Given the description of an element on the screen output the (x, y) to click on. 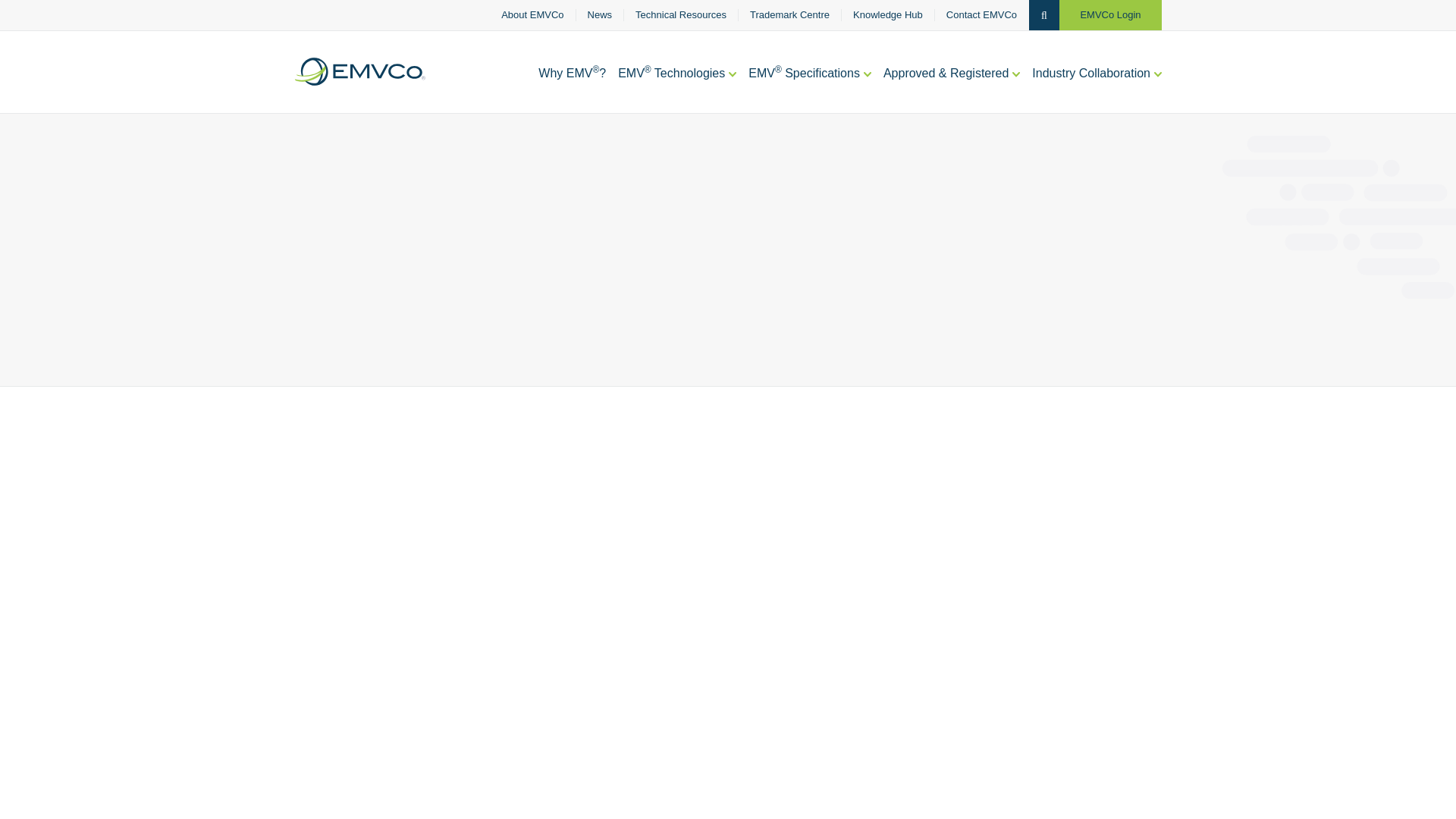
Knowledge Hub (888, 15)
Trademark Centre (789, 15)
EMVCo Login (1110, 15)
About EMVCo (531, 15)
Technical Resources (680, 15)
News (600, 15)
EMVCo Logo (360, 71)
Contact EMVCo (981, 15)
Industry Collaboration (1096, 89)
